Given the description of an element on the screen output the (x, y) to click on. 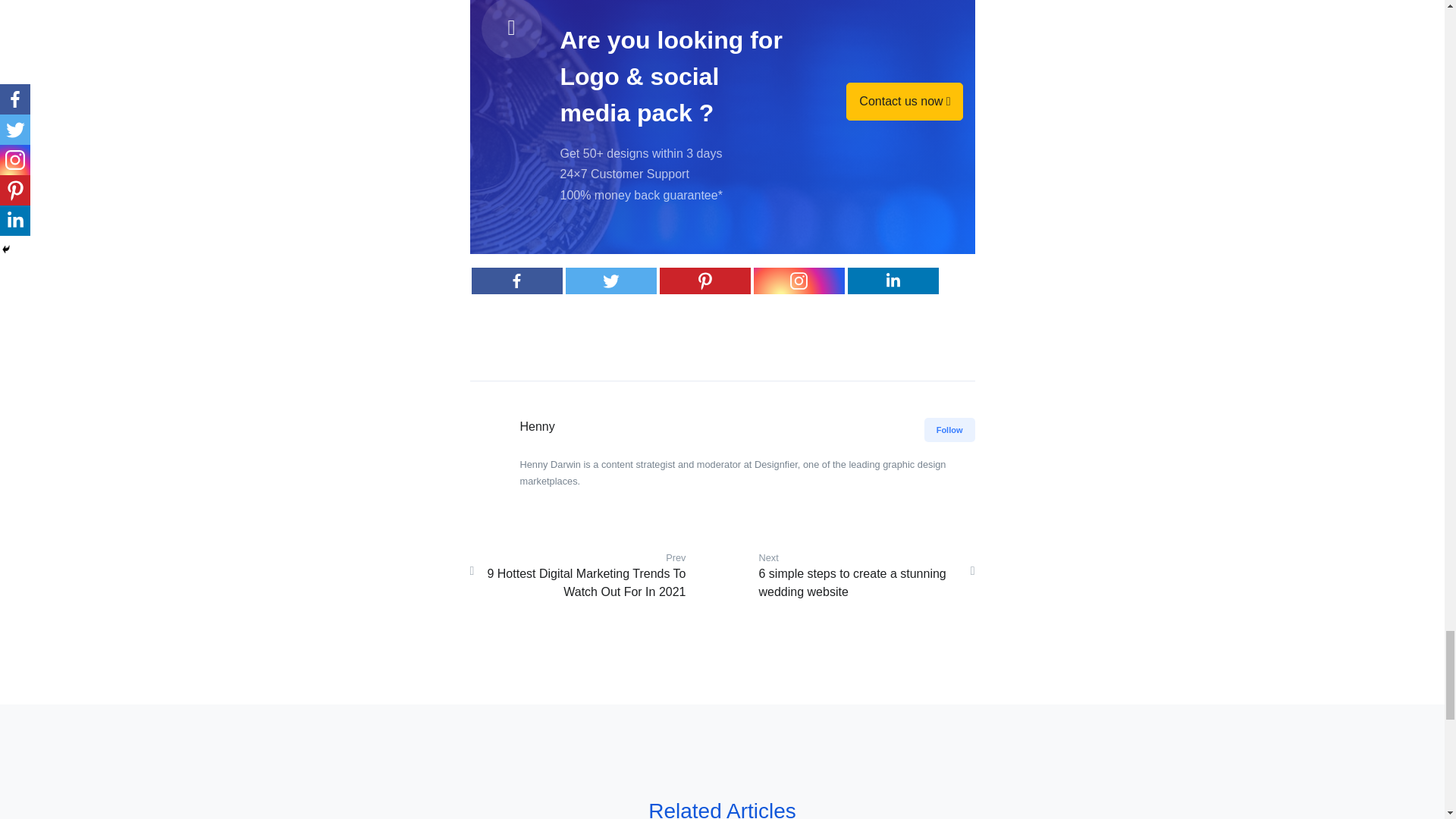
Linkedin (893, 280)
Facebook (516, 280)
Follow (949, 430)
Henny (536, 426)
Instagram (799, 280)
Pinterest (705, 280)
Twitter (611, 280)
Contact us now (903, 101)
